Given the description of an element on the screen output the (x, y) to click on. 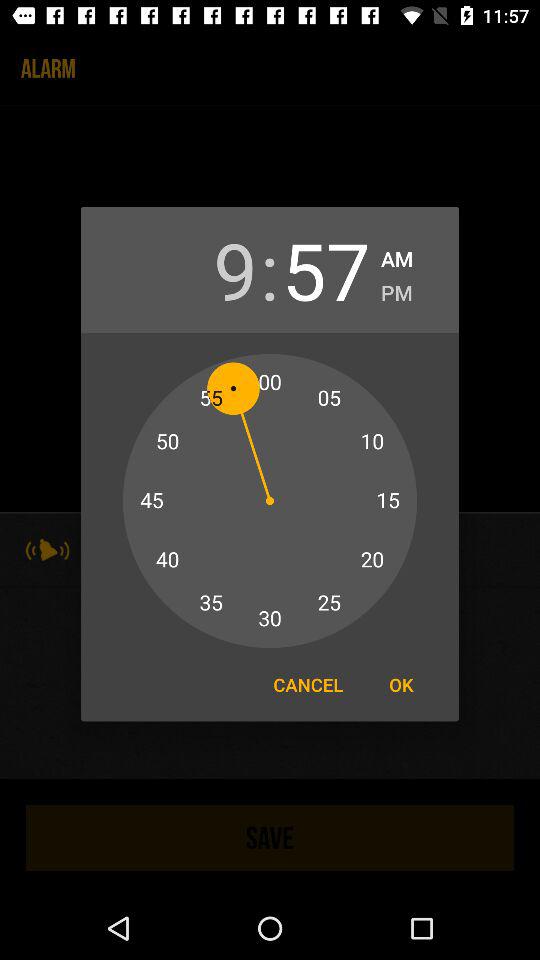
launch the item next to the : icon (213, 269)
